Given the description of an element on the screen output the (x, y) to click on. 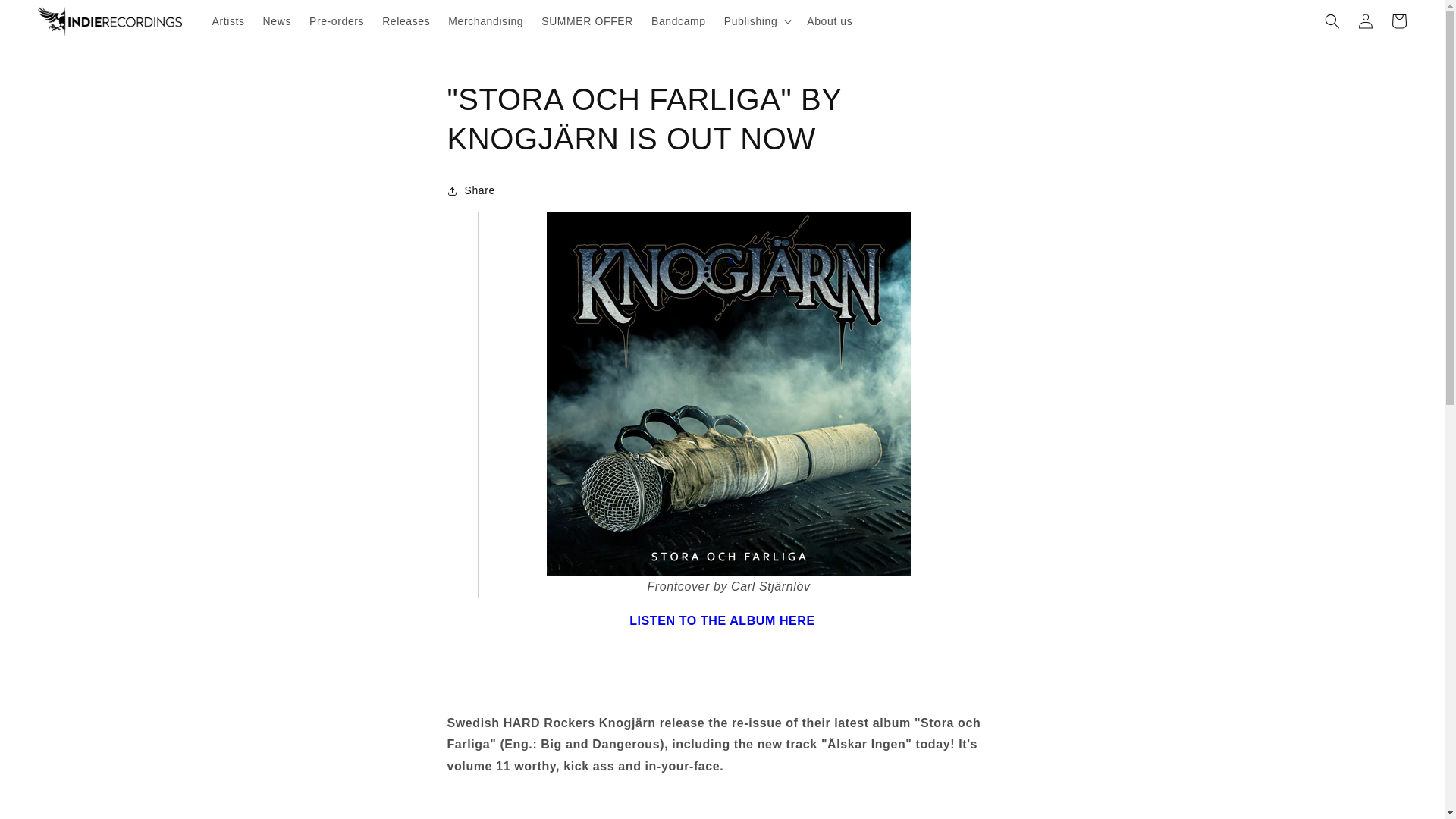
Skip to content (45, 17)
Log in (1365, 20)
Releases (405, 20)
Merchandising (485, 20)
SUMMER OFFER (587, 20)
Bandcamp (678, 20)
News (276, 20)
Artists (228, 20)
About us (829, 20)
Pre-orders (335, 20)
Cart (1398, 20)
LISTEN TO THE ALBUM HERE (721, 620)
